Given the description of an element on the screen output the (x, y) to click on. 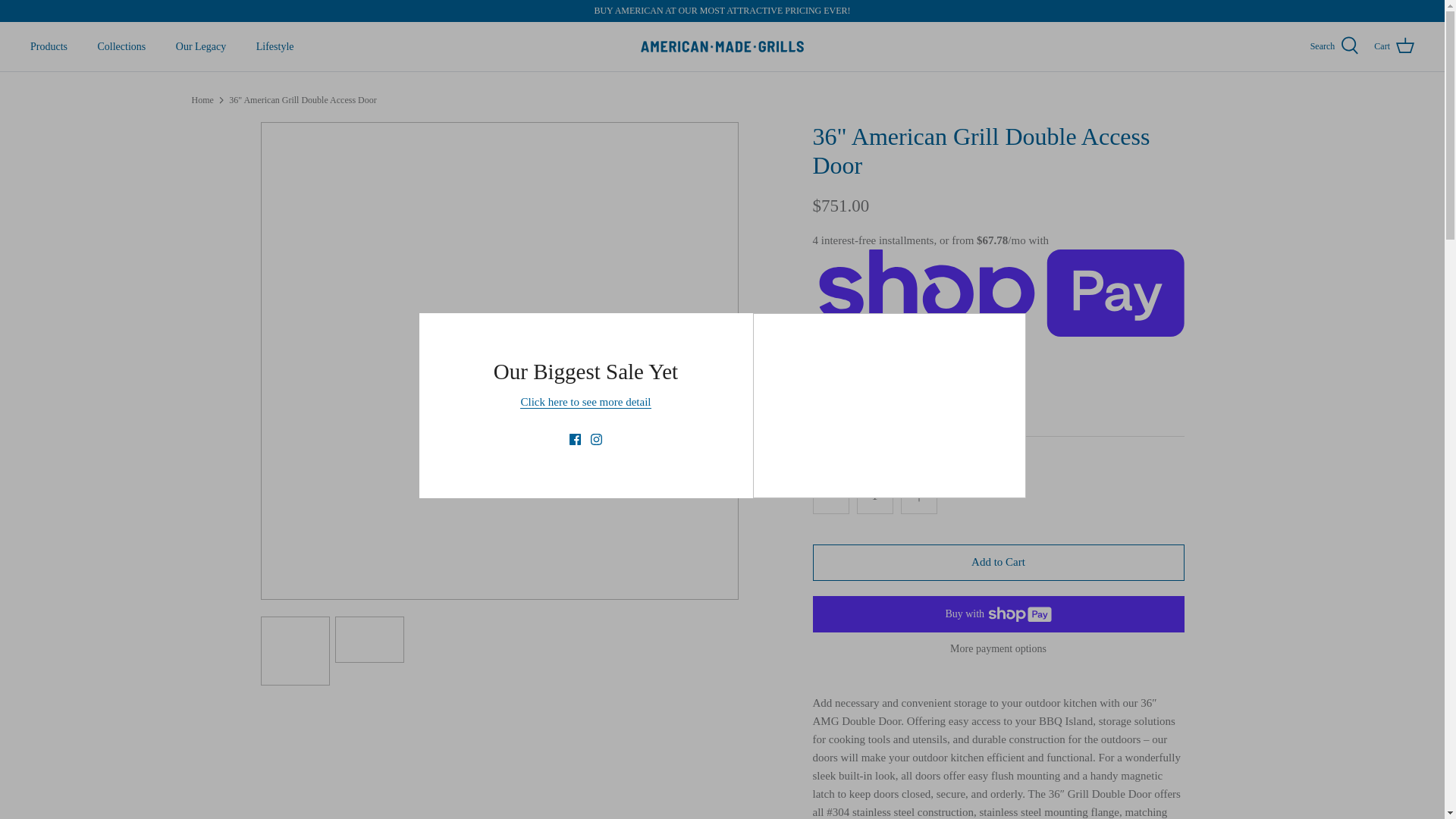
Our Legacy (200, 46)
Plus (919, 495)
BUY AMERICAN AT OUR MOST ATTRACTIVE PRICING EVER! (722, 11)
Right (721, 360)
Search (1334, 46)
Collections (120, 46)
Buy American Promo (584, 401)
Minus (831, 495)
Cart (1393, 46)
Lifestyle (275, 46)
American Made Grills (721, 46)
1 (875, 495)
Products (48, 46)
